Given the description of an element on the screen output the (x, y) to click on. 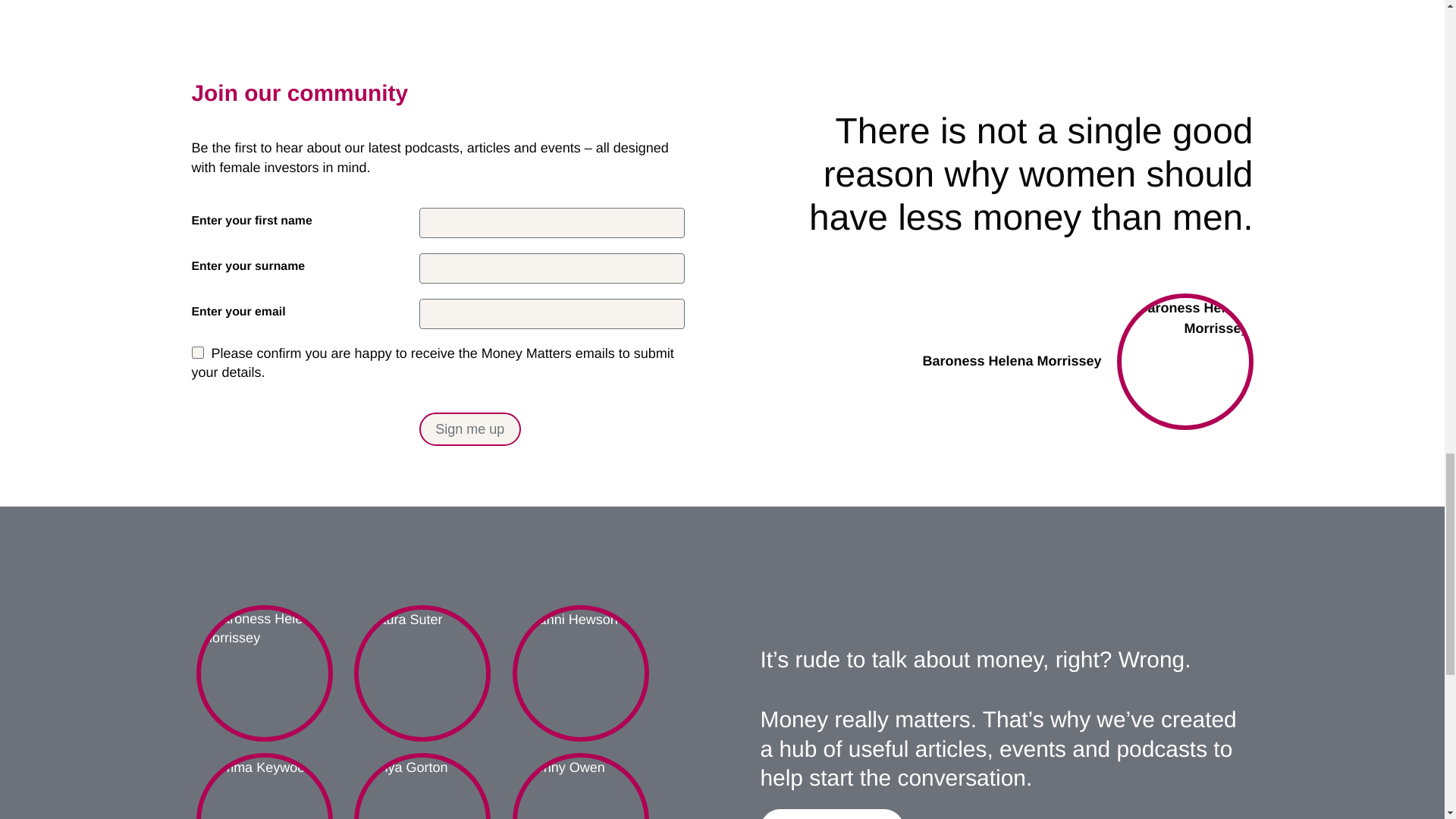
Sign me up (470, 428)
Sign me up (470, 428)
1 (831, 814)
